Given the description of an element on the screen output the (x, y) to click on. 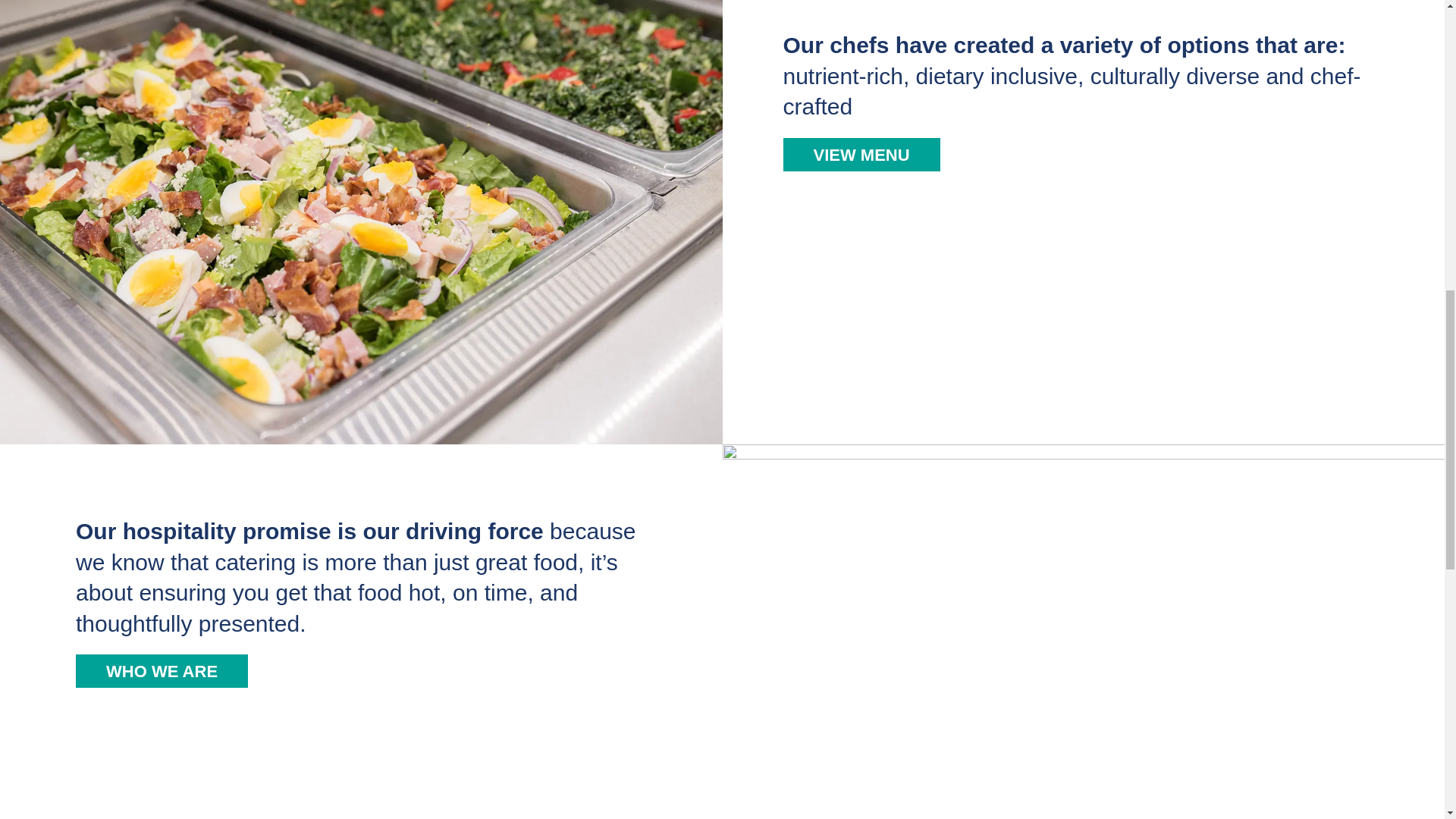
WHO WE ARE (161, 670)
VIEW MENU (861, 154)
